Given the description of an element on the screen output the (x, y) to click on. 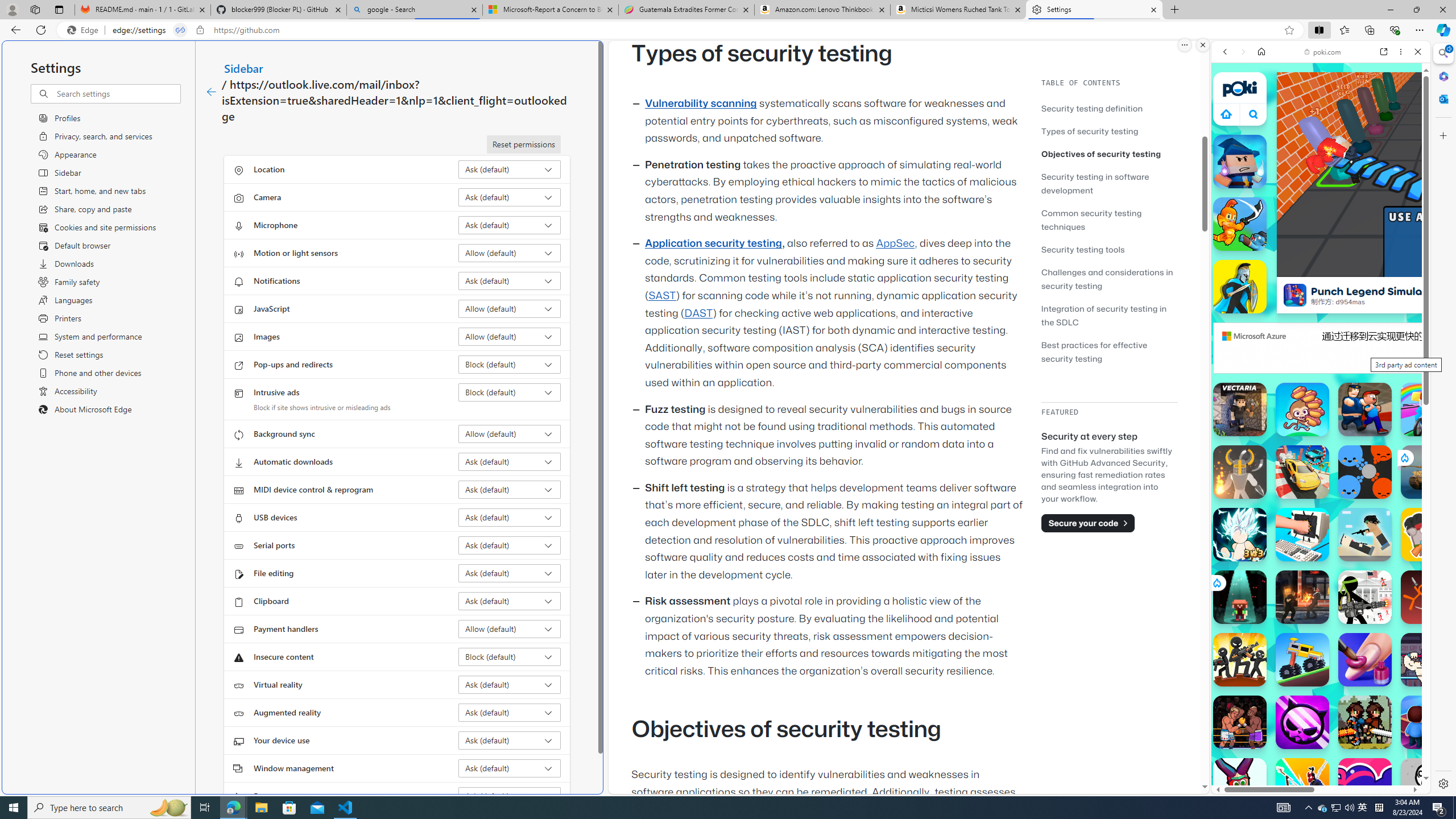
Two Player Games (1320, 323)
File editing Ask (default) (509, 573)
Big Shot Boxing Big Shot Boxing (1239, 722)
Show More Games for Girls (1390, 407)
Quivershot Quivershot (1239, 597)
Ragdoll Hit (1239, 471)
Secure your code (1088, 522)
Class: hvLtMSipvVng82x9Seuh (1294, 295)
Ragdoll Hit Ragdoll Hit (1239, 471)
War of Sticks War of Sticks (1239, 286)
Stickman Army: The Defenders (1364, 597)
